Given the description of an element on the screen output the (x, y) to click on. 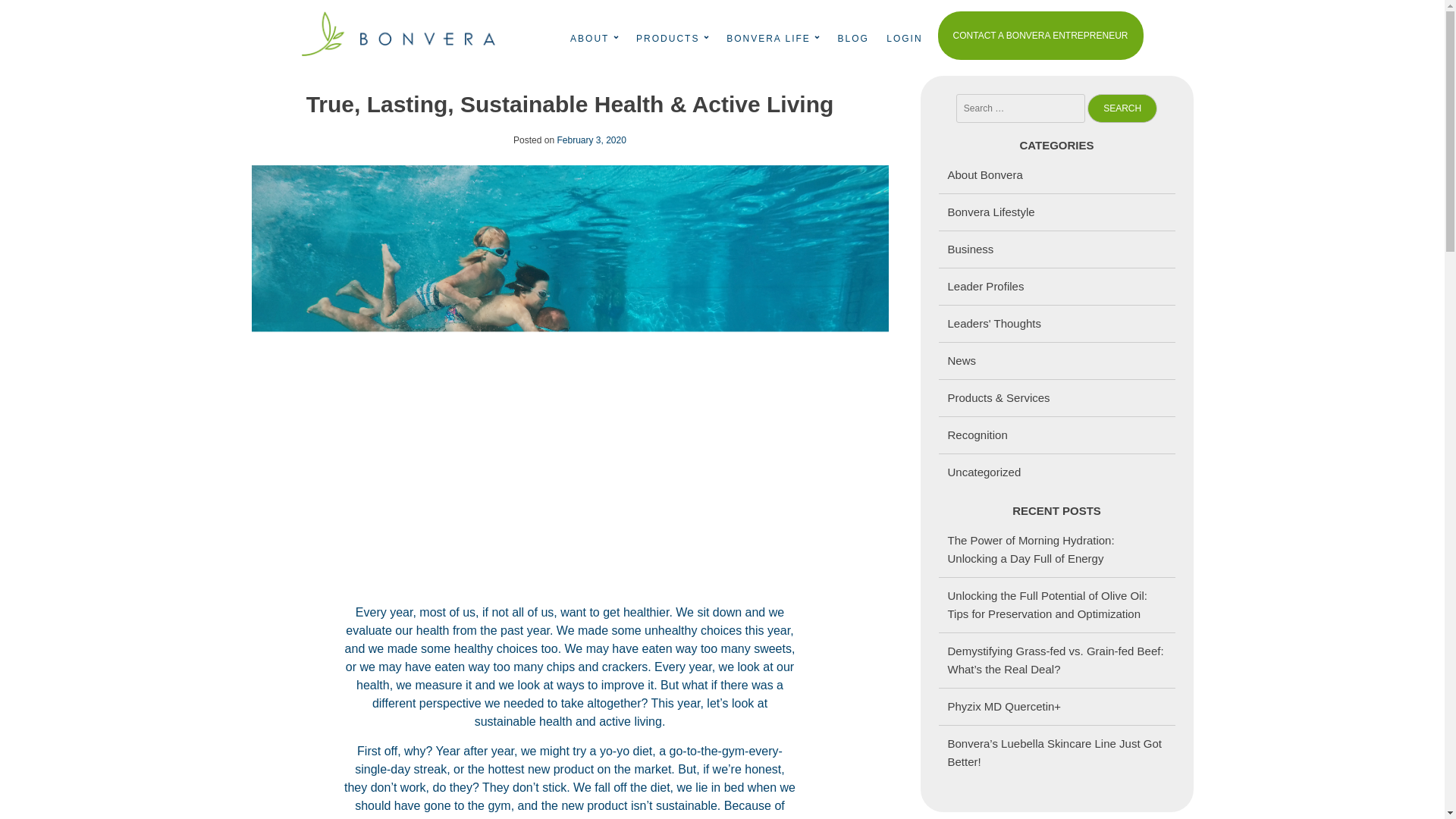
CONTACT A BONVERA ENTREPRENEUR (1039, 35)
BLOG (853, 38)
ABOUT (589, 38)
PRODUCTS (667, 38)
Search (1122, 108)
LOGIN (903, 38)
BONVERA LIFE (768, 38)
Search (1122, 108)
